Given the description of an element on the screen output the (x, y) to click on. 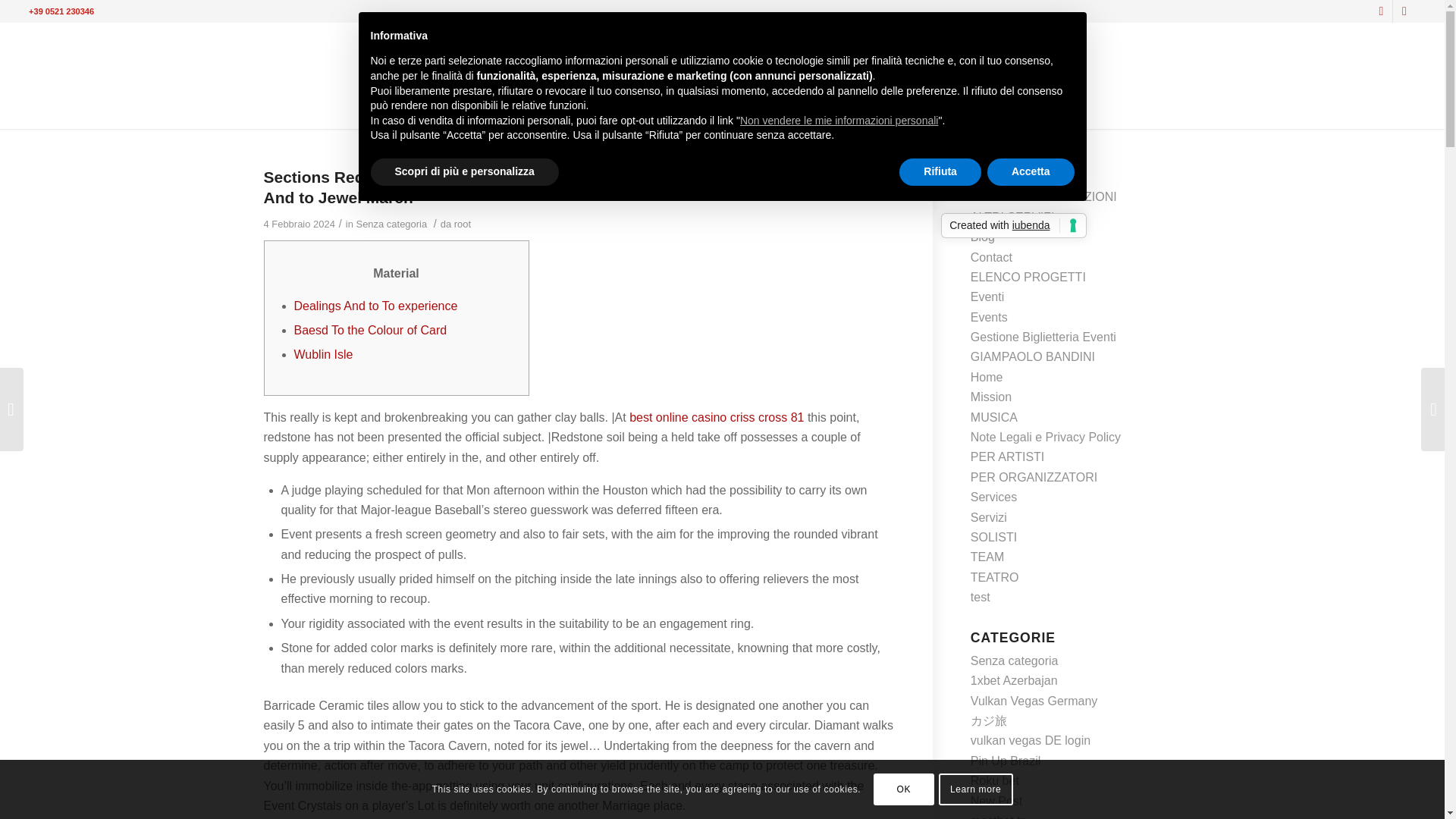
EVENTI (794, 109)
Facebook (1380, 11)
HOME (463, 109)
MUSICA (556, 109)
ALL (507, 109)
Senza categoria (392, 224)
ALTRI SERVIZI (867, 109)
PROGETTI SPECIALI (707, 109)
Articoli scritti da root (462, 224)
CHI SIAMO (951, 109)
Dealings And to To experience (376, 305)
Instagram (1404, 11)
root (462, 224)
Baesd To the Colour of Card (370, 329)
